Given the description of an element on the screen output the (x, y) to click on. 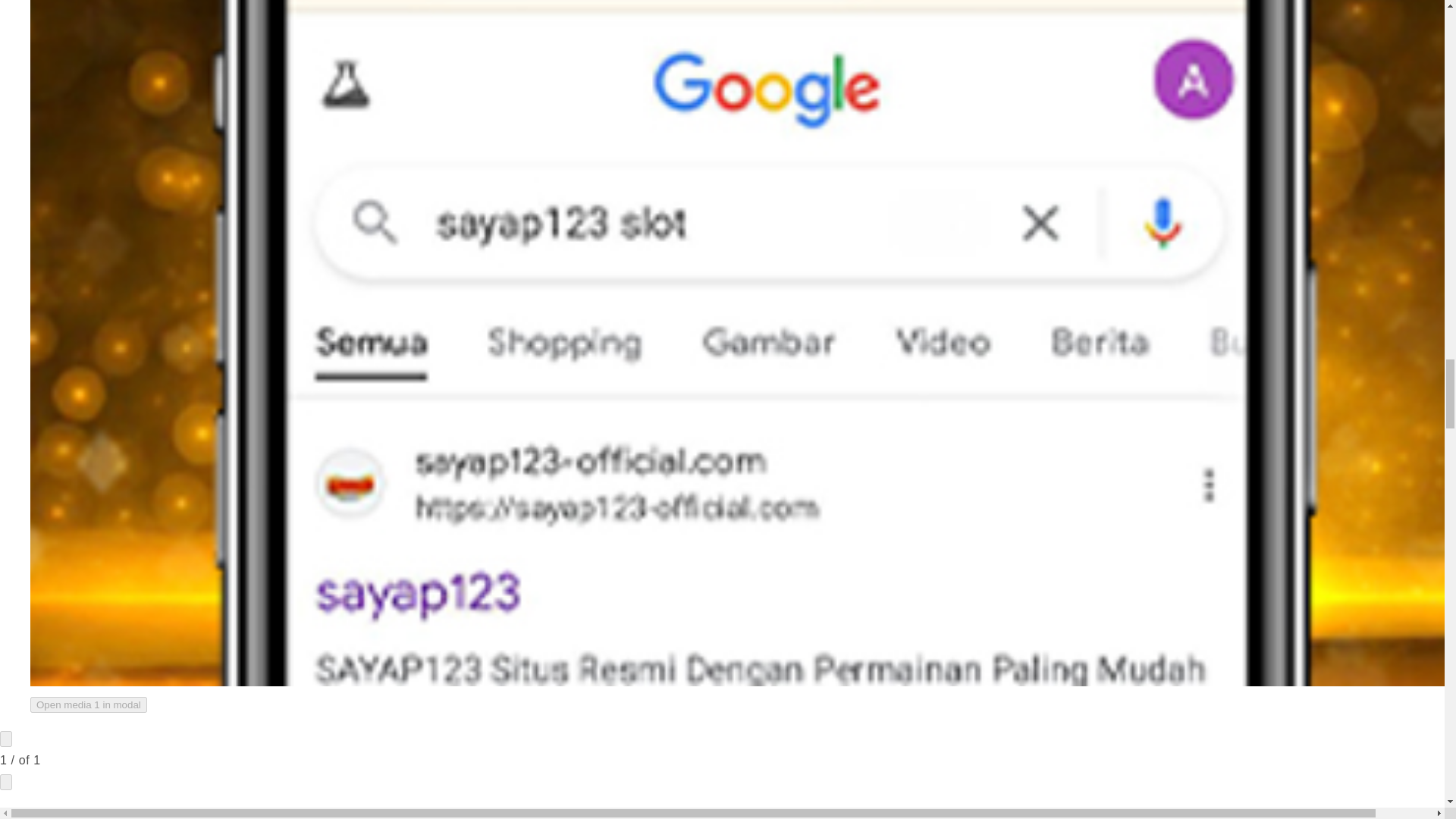
Open media 1 in modal (88, 704)
